Given the description of an element on the screen output the (x, y) to click on. 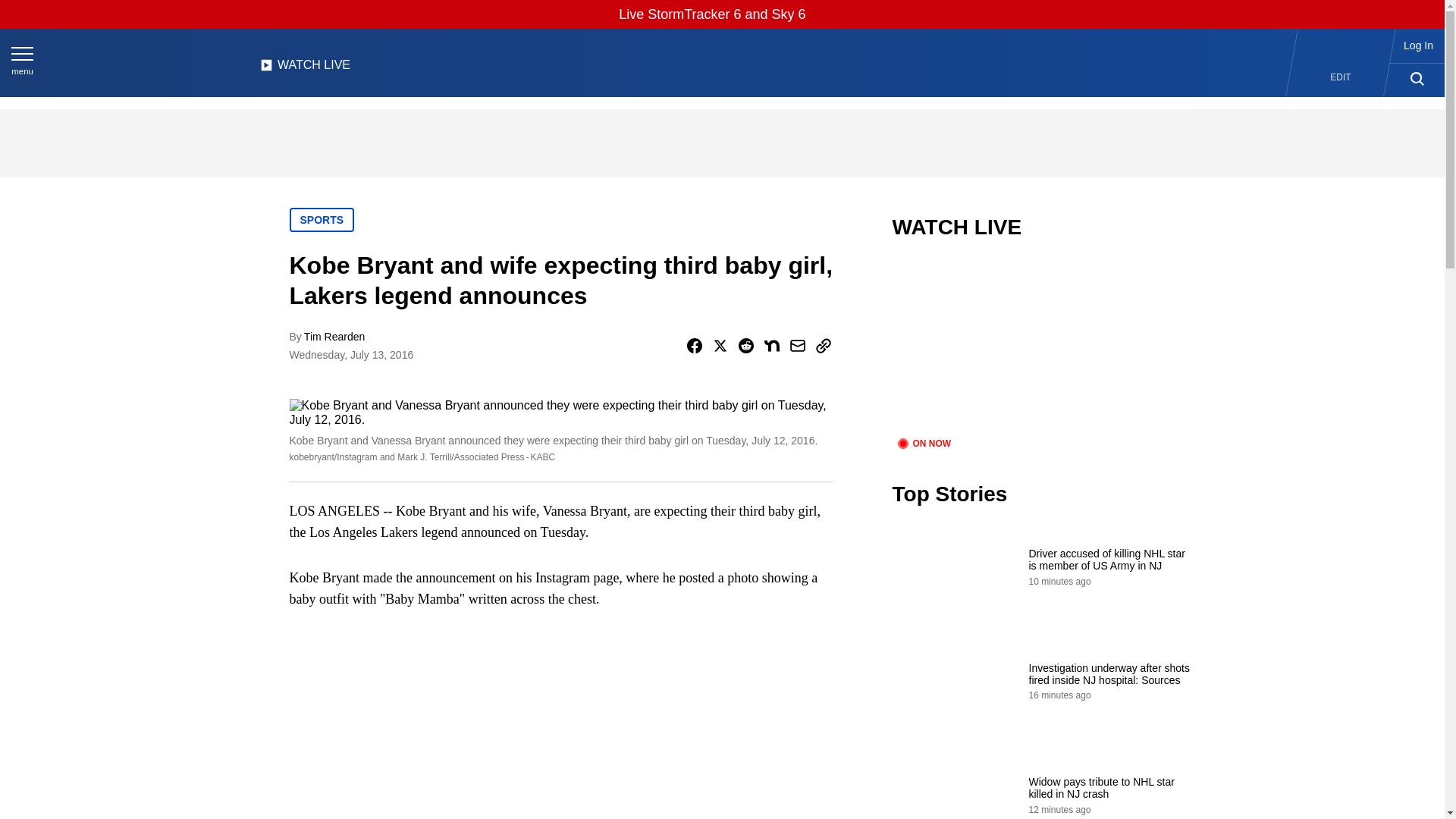
video.title (1043, 347)
WATCH LIVE (305, 69)
EDIT (1340, 77)
